Given the description of an element on the screen output the (x, y) to click on. 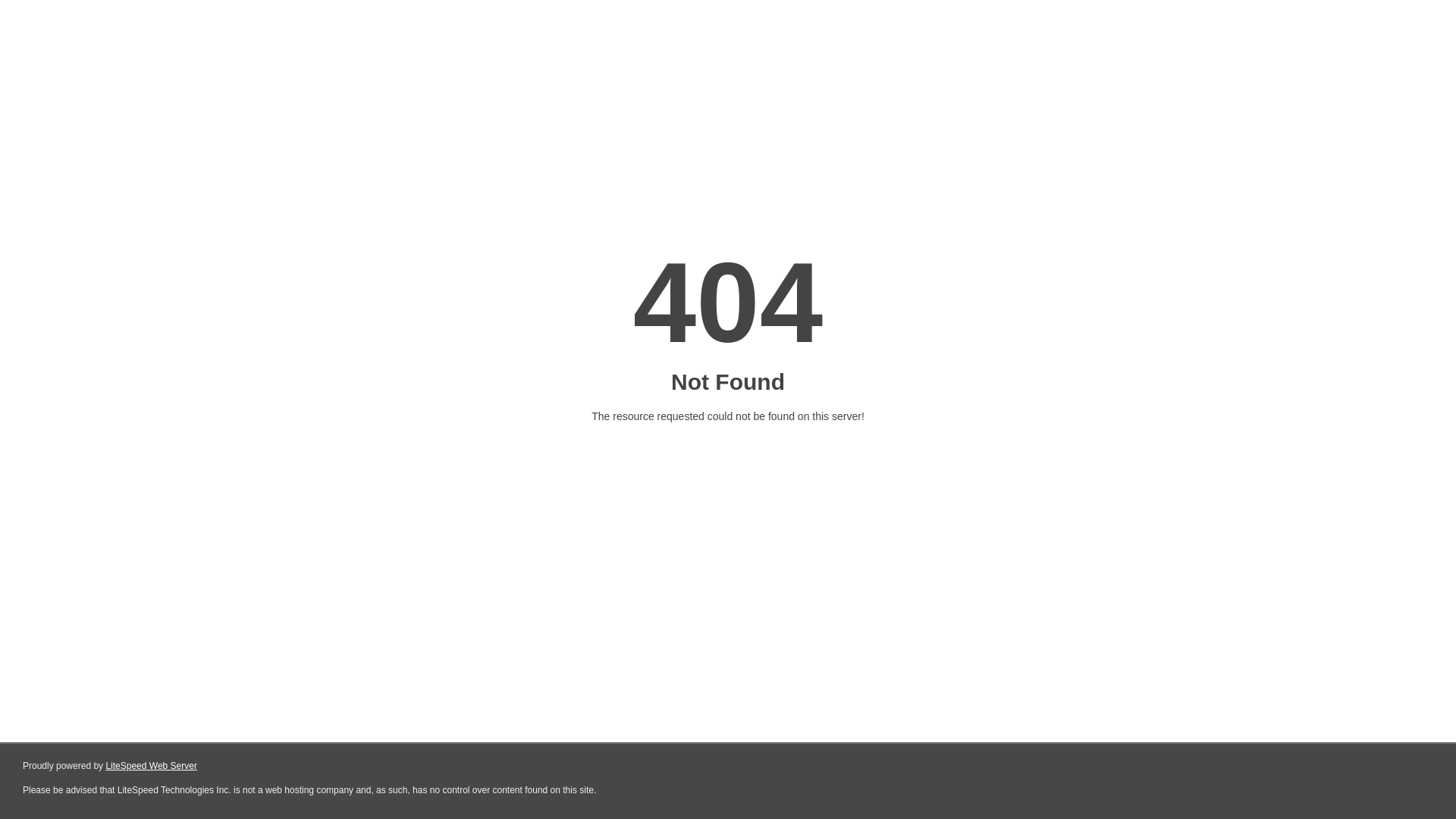
LiteSpeed Web Server Element type: text (151, 765)
